Given the description of an element on the screen output the (x, y) to click on. 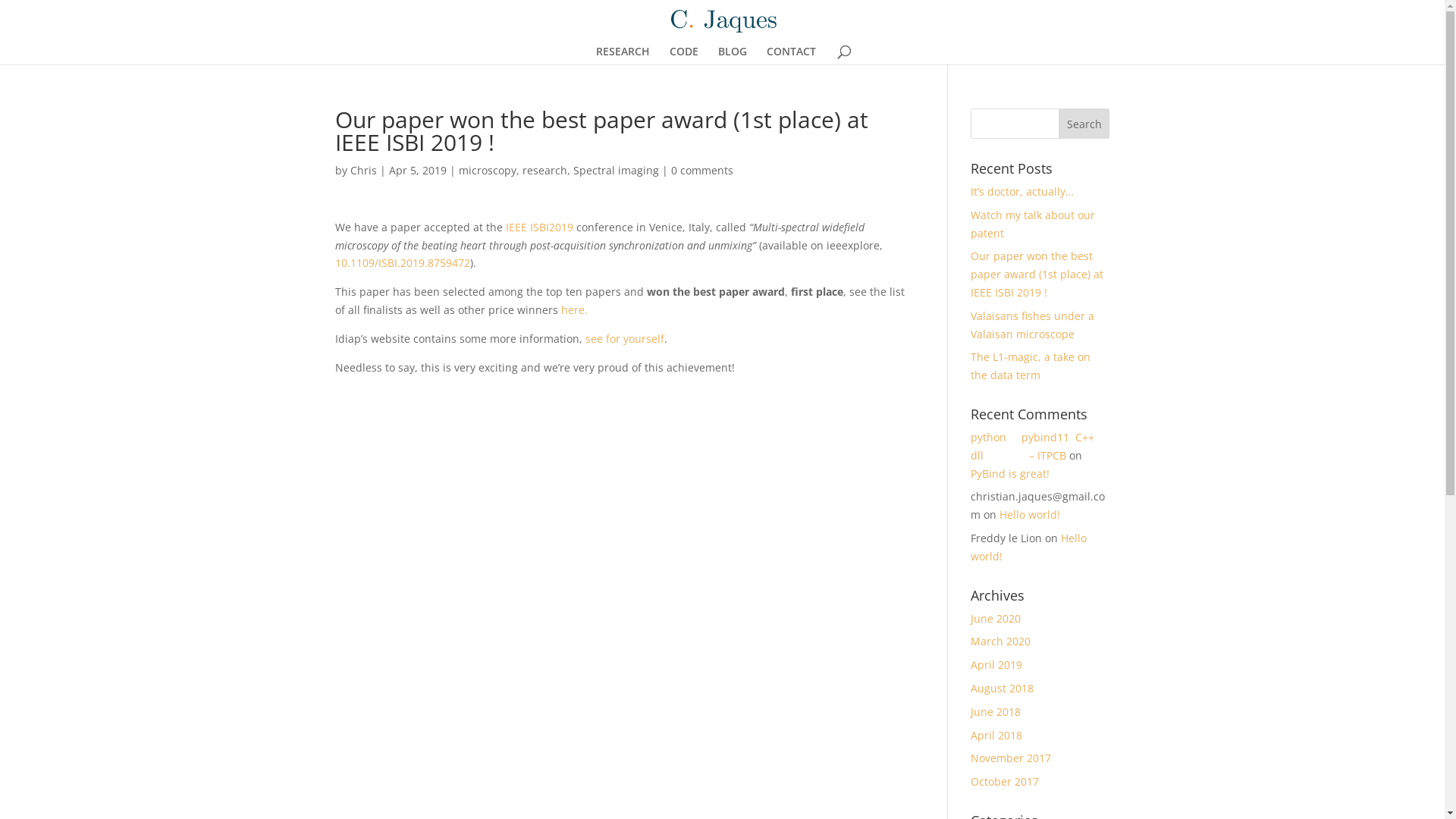
BLOG Element type: text (731, 55)
Spectral imaging Element type: text (615, 170)
October 2017 Element type: text (1004, 781)
June 2020 Element type: text (995, 618)
March 2020 Element type: text (1000, 640)
June 2018 Element type: text (995, 711)
RESEARCH Element type: text (622, 55)
research Element type: text (543, 170)
Hello world! Element type: text (1029, 514)
Valaisans fishes under a Valaisan microscope Element type: text (1032, 324)
see for yourself Element type: text (624, 338)
CODE Element type: text (682, 55)
microscopy Element type: text (486, 170)
here. Element type: text (574, 309)
Hello world! Element type: text (1028, 546)
CONTACT Element type: text (790, 55)
Watch my talk about our patent Element type: text (1032, 223)
April 2019 Element type: text (996, 664)
Chris Element type: text (363, 170)
PyBind is great! Element type: text (1009, 473)
0 comments Element type: text (701, 170)
April 2018 Element type: text (996, 735)
November 2017 Element type: text (1010, 757)
The L1-magic, a take on the data term Element type: text (1030, 365)
Search Element type: text (1084, 123)
10.1109/ISBI.2019.8759472 Element type: text (402, 262)
August 2018 Element type: text (1001, 687)
IEEE ISBI2019 Element type: text (538, 226)
